Given the description of an element on the screen output the (x, y) to click on. 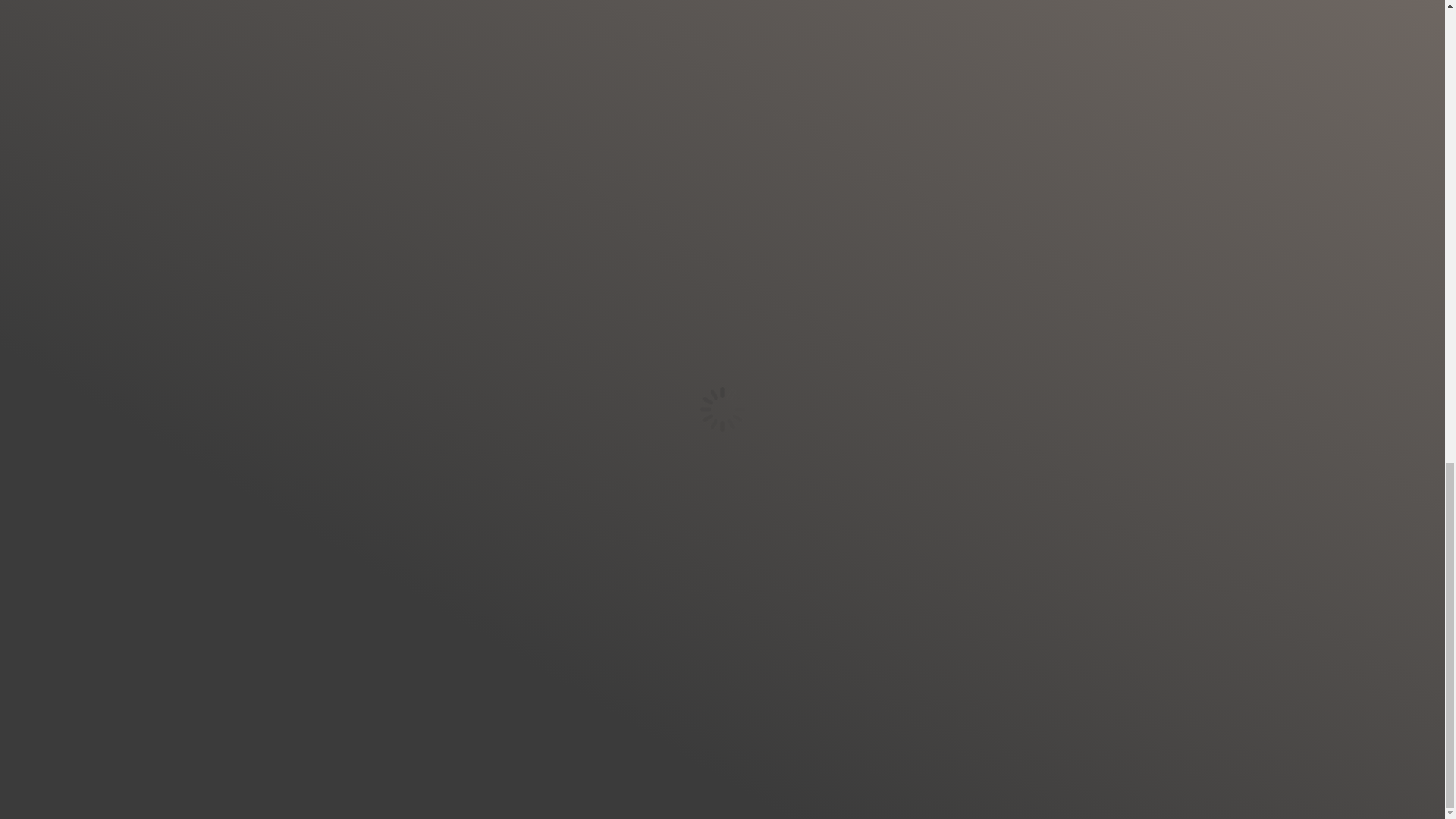
Shahina Jaffer (684, 237)
Petr Weigl produces large scale commissions for KM Clients (836, 463)
Click here (291, 137)
The Art of Perception (669, 40)
View all posts by kmaginnis (419, 331)
Click here (614, 212)
May 30, 2019 (291, 158)
News (678, 212)
Emerging Artists (561, 212)
Art Curation (614, 237)
Introducing the new Katherine Maginnis e-commerce website (549, 237)
By kmaginnis (836, 551)
